Given the description of an element on the screen output the (x, y) to click on. 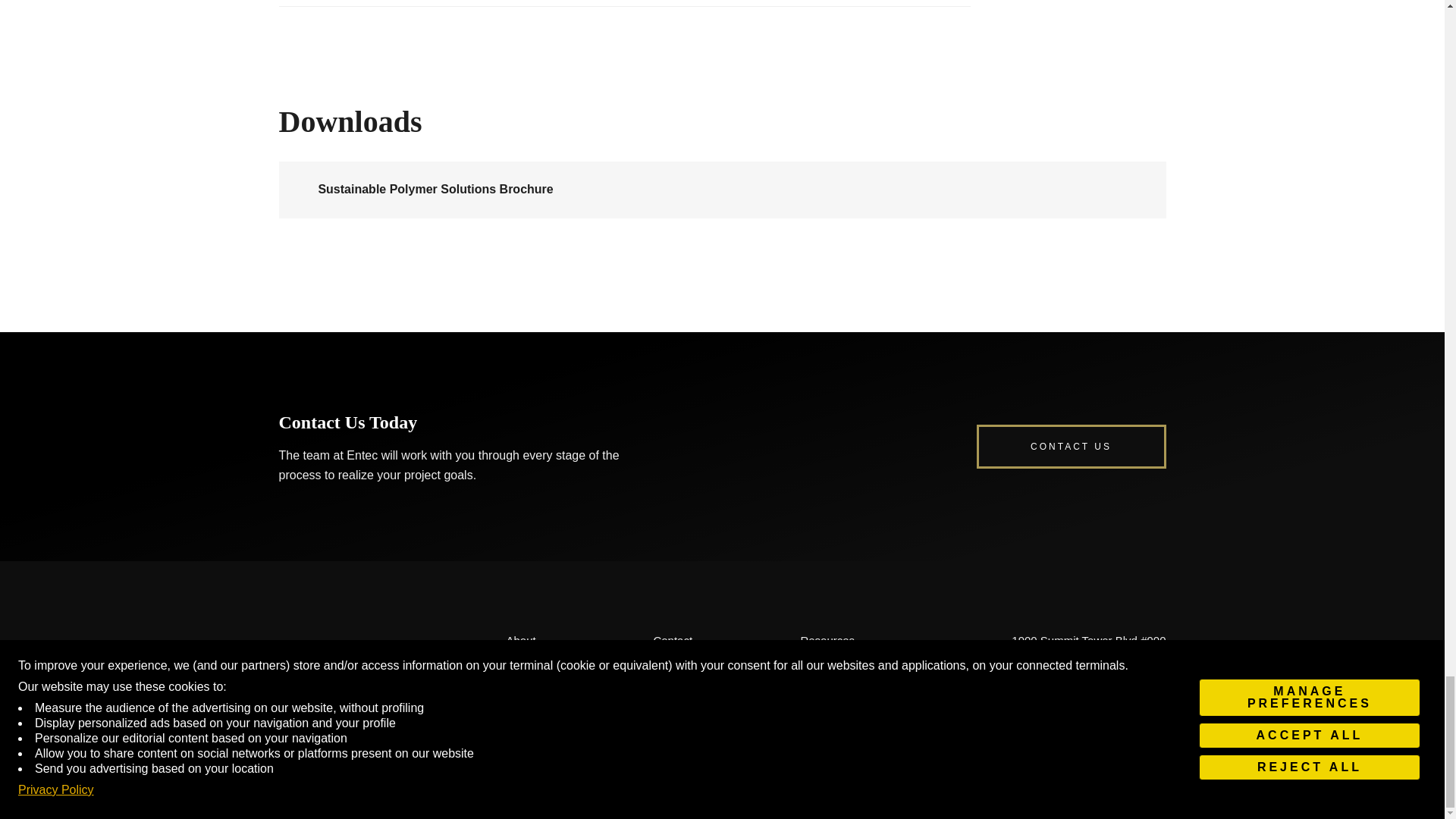
youtube (1133, 781)
facebook (1044, 781)
linkedin (1088, 781)
